Given the description of an element on the screen output the (x, y) to click on. 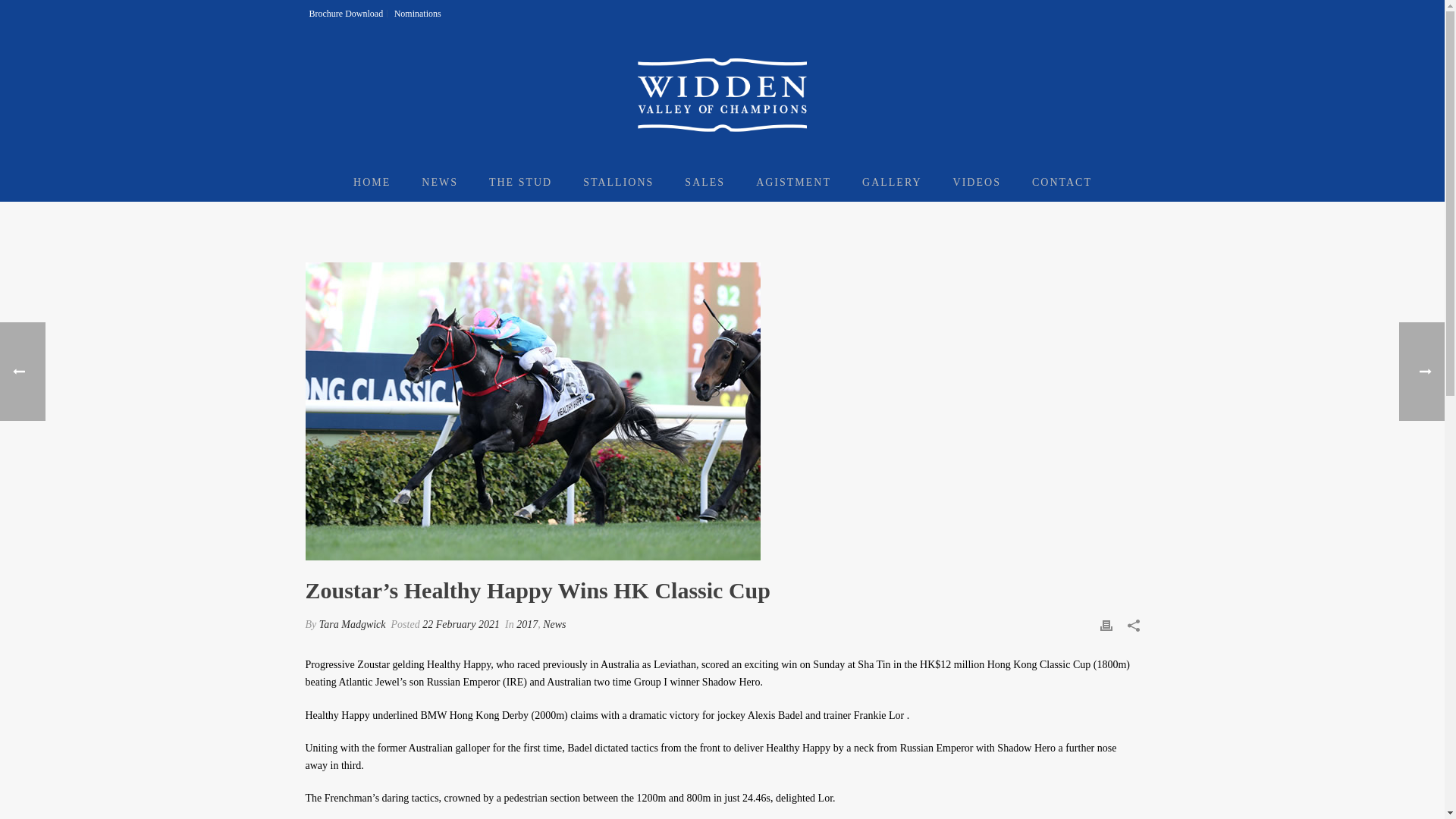
STALLIONS (617, 181)
THE STUD (520, 181)
SALES (704, 181)
SALES (704, 181)
THE STUD (520, 181)
VIDEOS (976, 181)
NEWS (439, 181)
HOME (371, 181)
AGISTMENT (793, 181)
VIDEOS (976, 181)
STALLIONS (617, 181)
HOME (371, 181)
Posts by Tara Madgwick (351, 624)
AGISTMENT (793, 181)
Brochure Download (345, 13)
